Given the description of an element on the screen output the (x, y) to click on. 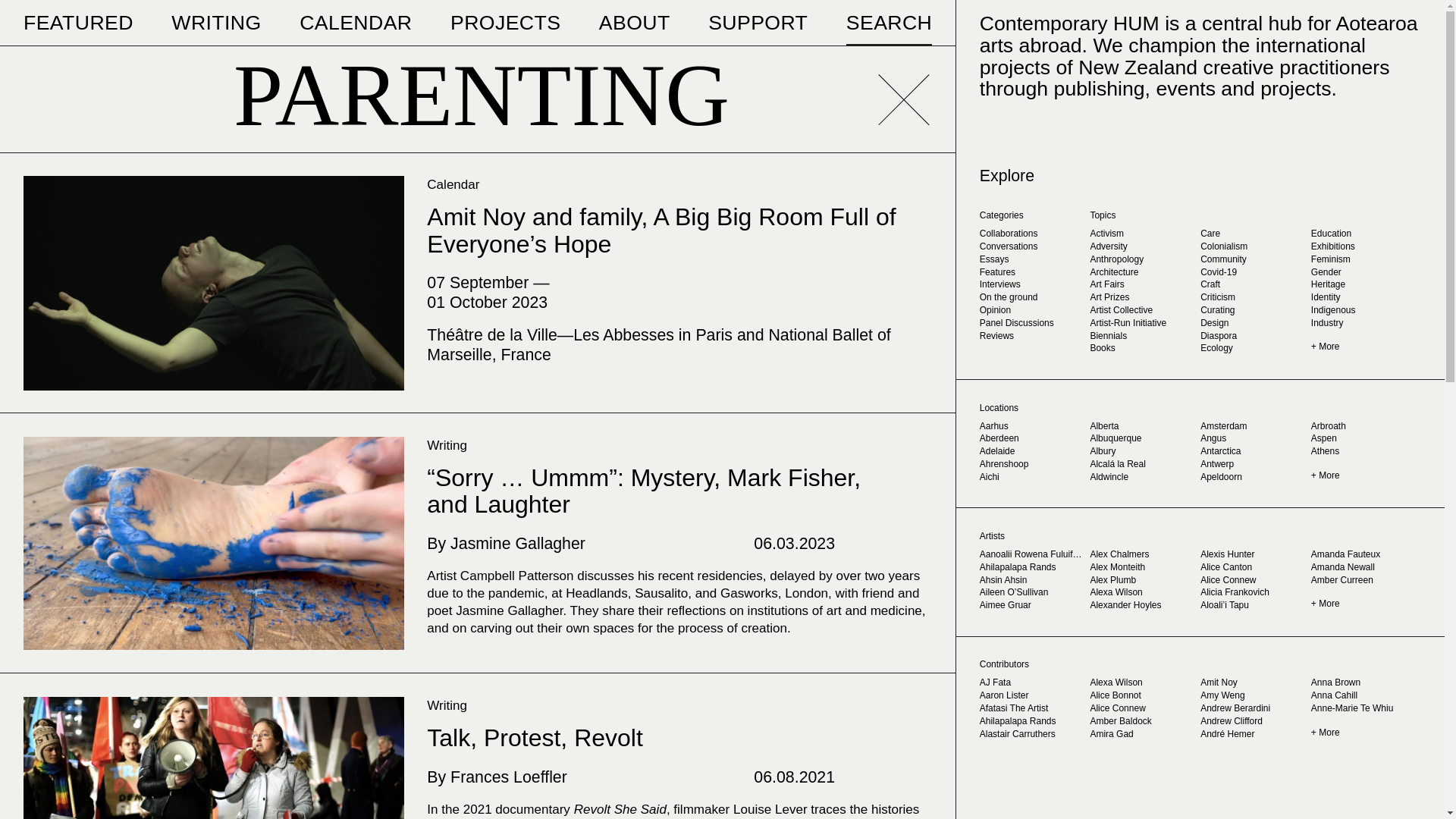
FEATURED (78, 22)
Covid-19 (1253, 273)
Panel Discussions (1032, 324)
Care (1253, 235)
Community (1253, 260)
SEARCH (889, 22)
ABOUT (633, 22)
Art Prizes (1142, 298)
Books (1142, 349)
Artist Collective (1142, 311)
Art Fairs (1142, 286)
Interviews (1032, 286)
Adversity (1142, 247)
CALENDAR (355, 22)
